Given the description of an element on the screen output the (x, y) to click on. 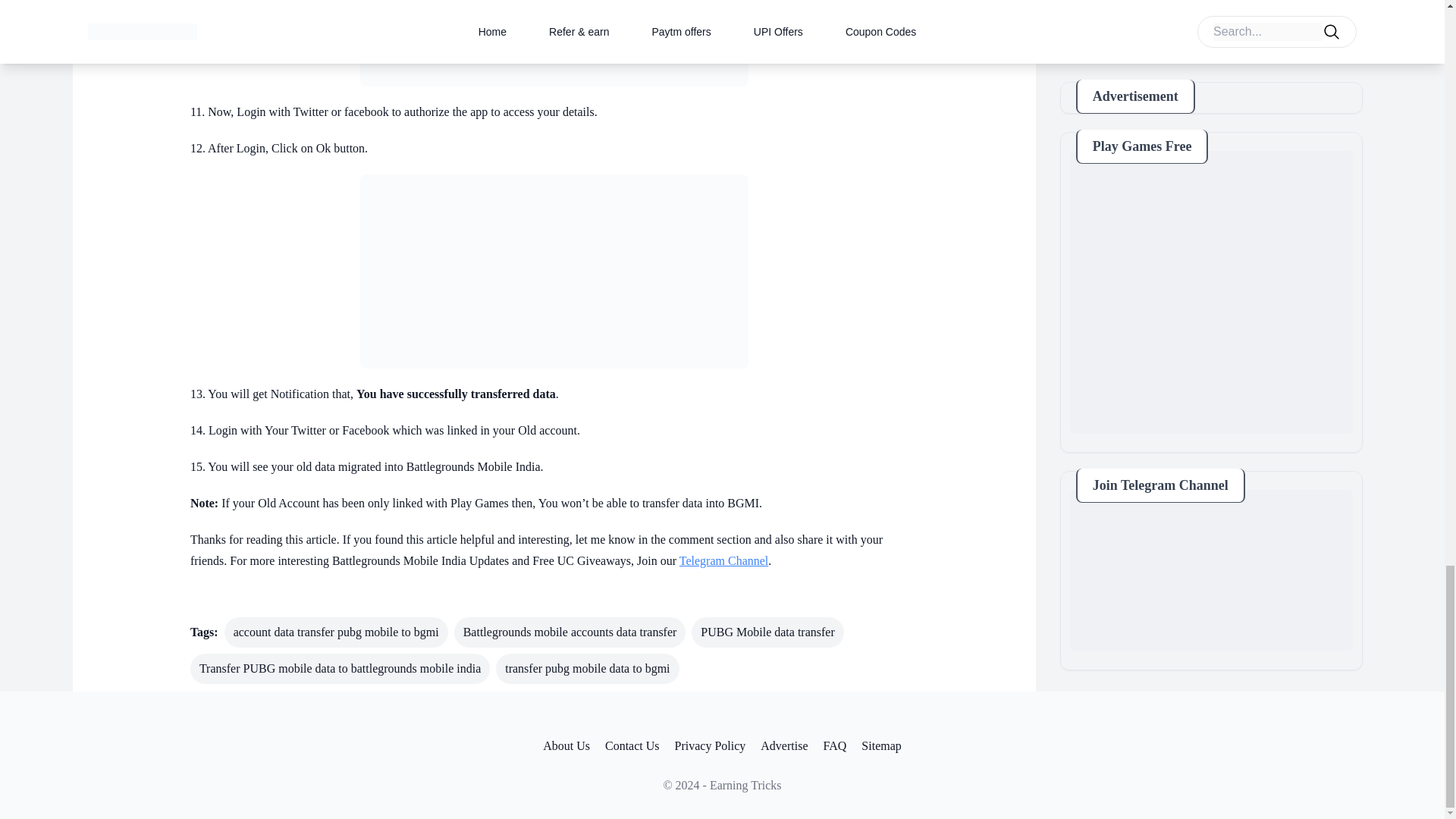
Contact Us (632, 745)
account data transfer pubg mobile to bgmi (336, 632)
Transfer PUBG Mobile Data to Battlegrounds Mobile India (553, 271)
Transfer PUBG mobile data to battlegrounds mobile india (339, 668)
Advertise (784, 745)
transfer pubg mobile data to bgmi (587, 668)
FAQ (835, 745)
transfer pubg mobile data to bgmi (587, 668)
PUBG Mobile data transfer (767, 632)
Transfer PUBG Mobile Data to Battlegrounds Mobile India (553, 43)
